Given the description of an element on the screen output the (x, y) to click on. 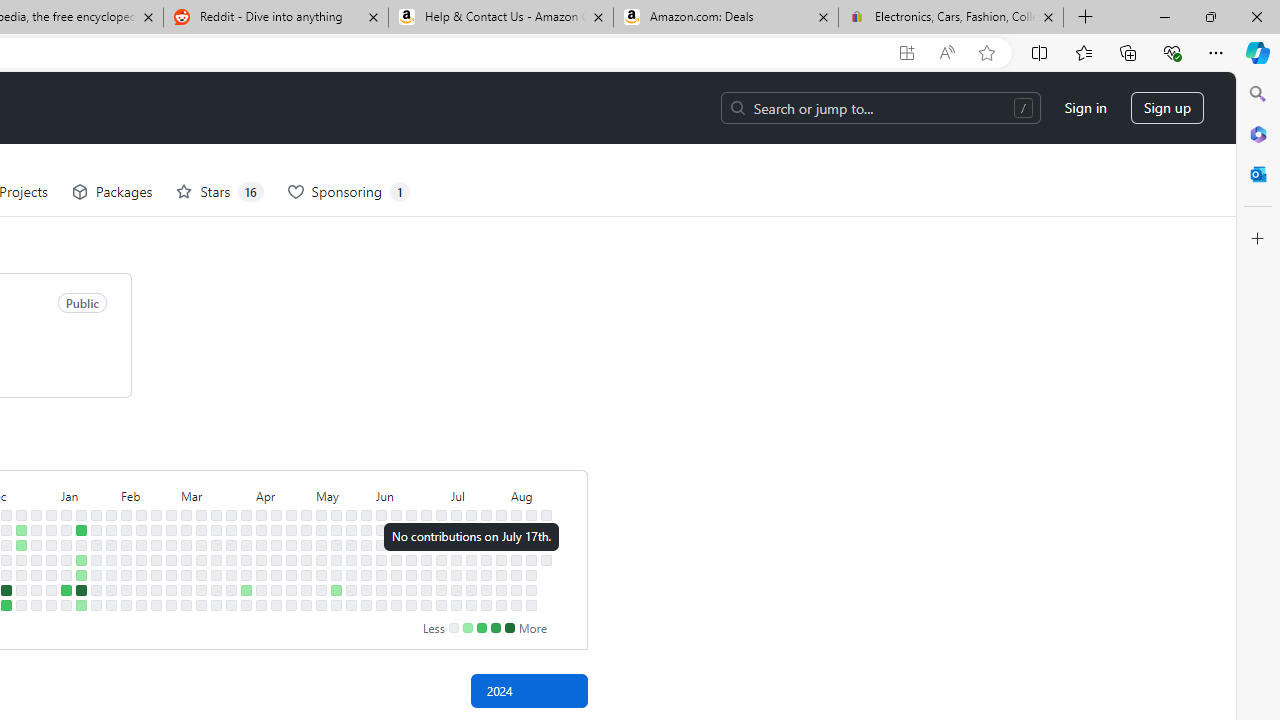
April (284, 493)
No contributions on May 16th. (336, 574)
No contributions on December 28th. (36, 574)
No contributions on June 7th. (381, 589)
No contributions on July 18th. (471, 574)
July (478, 493)
No contributions on February 8th. (126, 574)
No contributions on August 11th. (531, 515)
1 contribution on January 18th. (81, 574)
No contributions on January 6th. (51, 605)
